Given the description of an element on the screen output the (x, y) to click on. 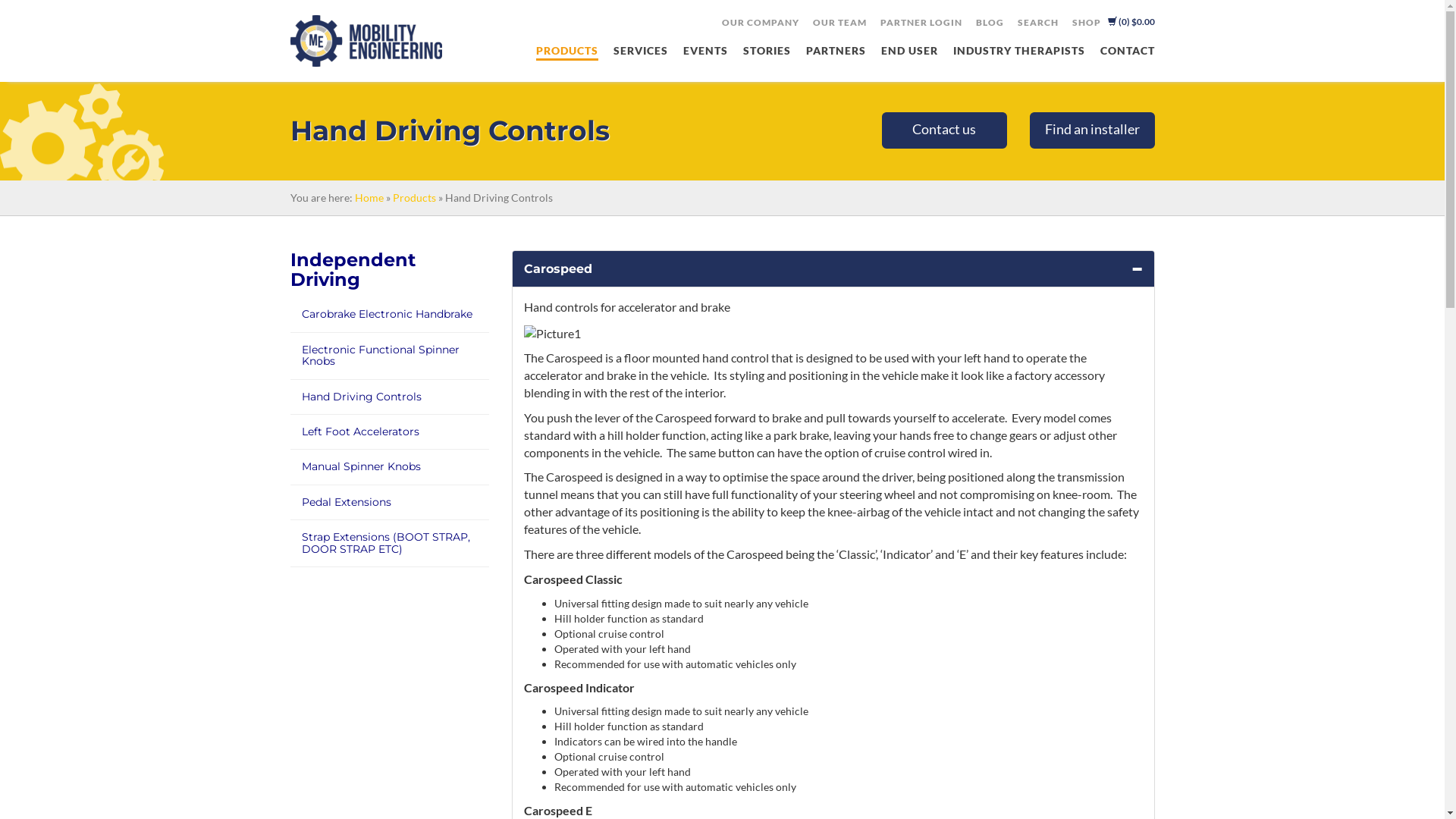
Electronic Functional Spinner Knobs Element type: text (380, 354)
Manual Spinner Knobs Element type: text (360, 466)
BLOG Element type: text (989, 22)
Products Element type: text (414, 197)
Hand Driving Controls Element type: text (361, 396)
Carospeed Element type: text (558, 268)
PARTNER LOGIN Element type: text (921, 22)
Left Foot Accelerators Element type: text (360, 431)
Pedal Extensions Element type: text (346, 501)
Home Element type: text (368, 197)
Strap Extensions (BOOT STRAP, DOOR STRAP ETC) Element type: text (385, 542)
CONTACT Element type: text (1126, 51)
SHOP Element type: text (1085, 22)
INDUSTRY THERAPISTS Element type: text (1018, 51)
SERVICES Element type: text (639, 51)
STORIES Element type: text (766, 51)
PARTNERS Element type: text (835, 51)
OUR COMPANY Element type: text (759, 22)
Carobrake Electronic Handbrake Element type: text (386, 313)
END USER Element type: text (909, 51)
PRODUCTS Element type: text (566, 51)
(0) $0.00 Element type: text (1130, 21)
Independent Driving Element type: text (351, 269)
OUR TEAM Element type: text (838, 22)
EVENTS Element type: text (704, 51)
Find an installer Element type: text (1091, 130)
SEARCH Element type: text (1037, 22)
Contact us Element type: text (943, 130)
